Given the description of an element on the screen output the (x, y) to click on. 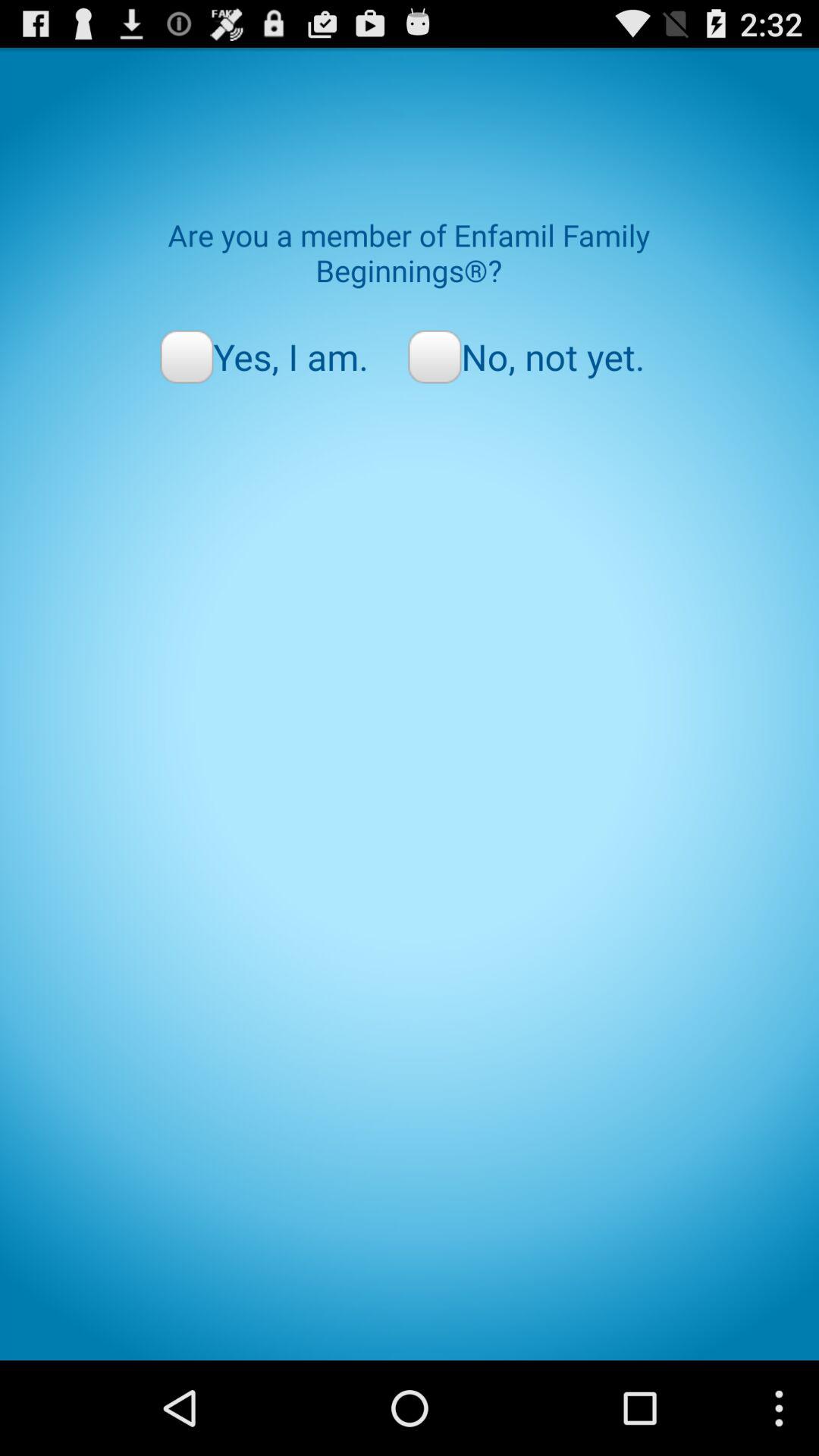
launch the radio button next to no, not yet. icon (264, 356)
